Given the description of an element on the screen output the (x, y) to click on. 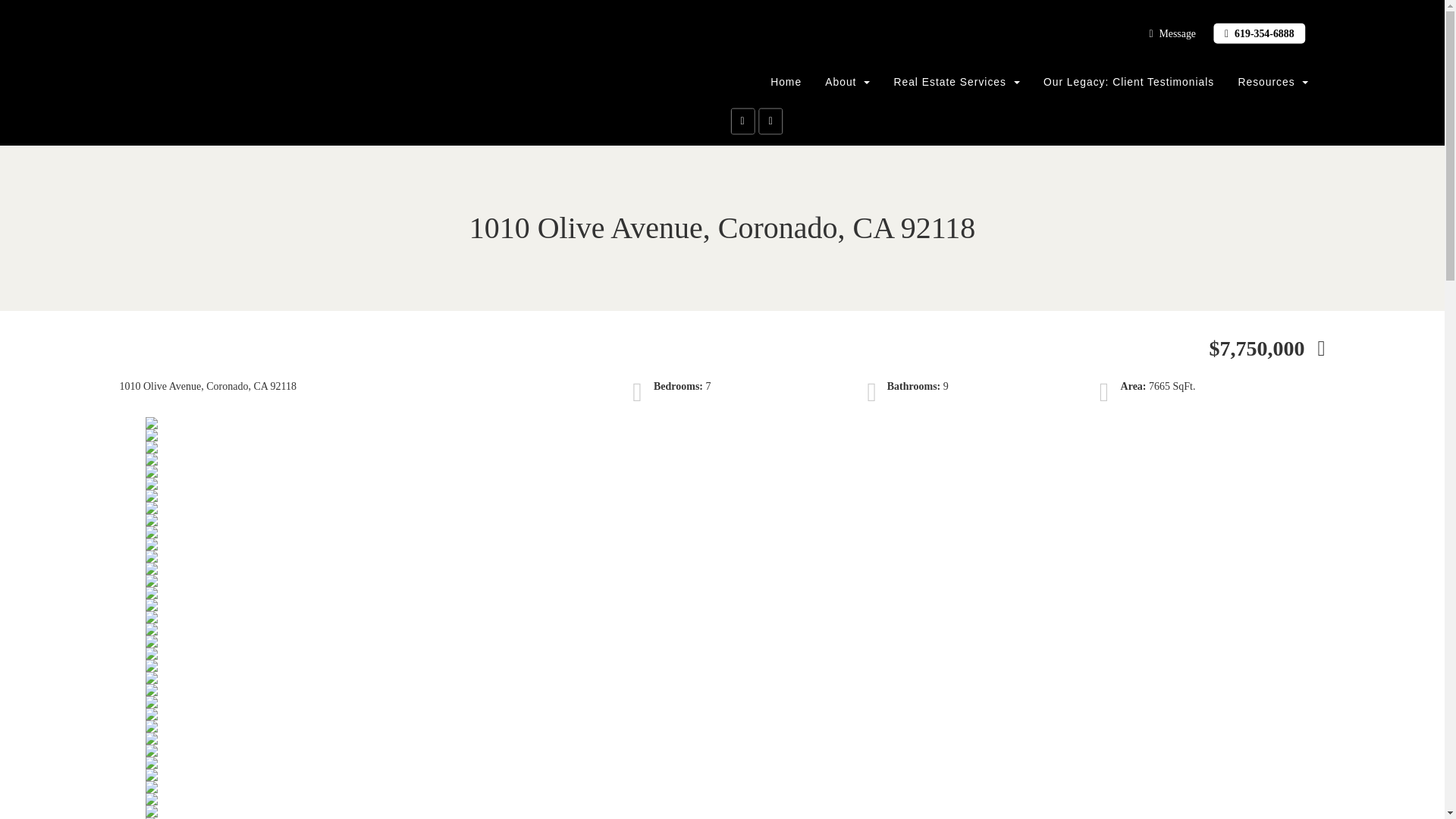
About (847, 81)
Real Estate Services (956, 81)
Call: 619-354-6888 (1259, 33)
Home (785, 81)
Resources (1273, 81)
Message (1171, 33)
619-354-6888 (1259, 33)
Our Legacy: Client Testimonials (1129, 81)
